Given the description of an element on the screen output the (x, y) to click on. 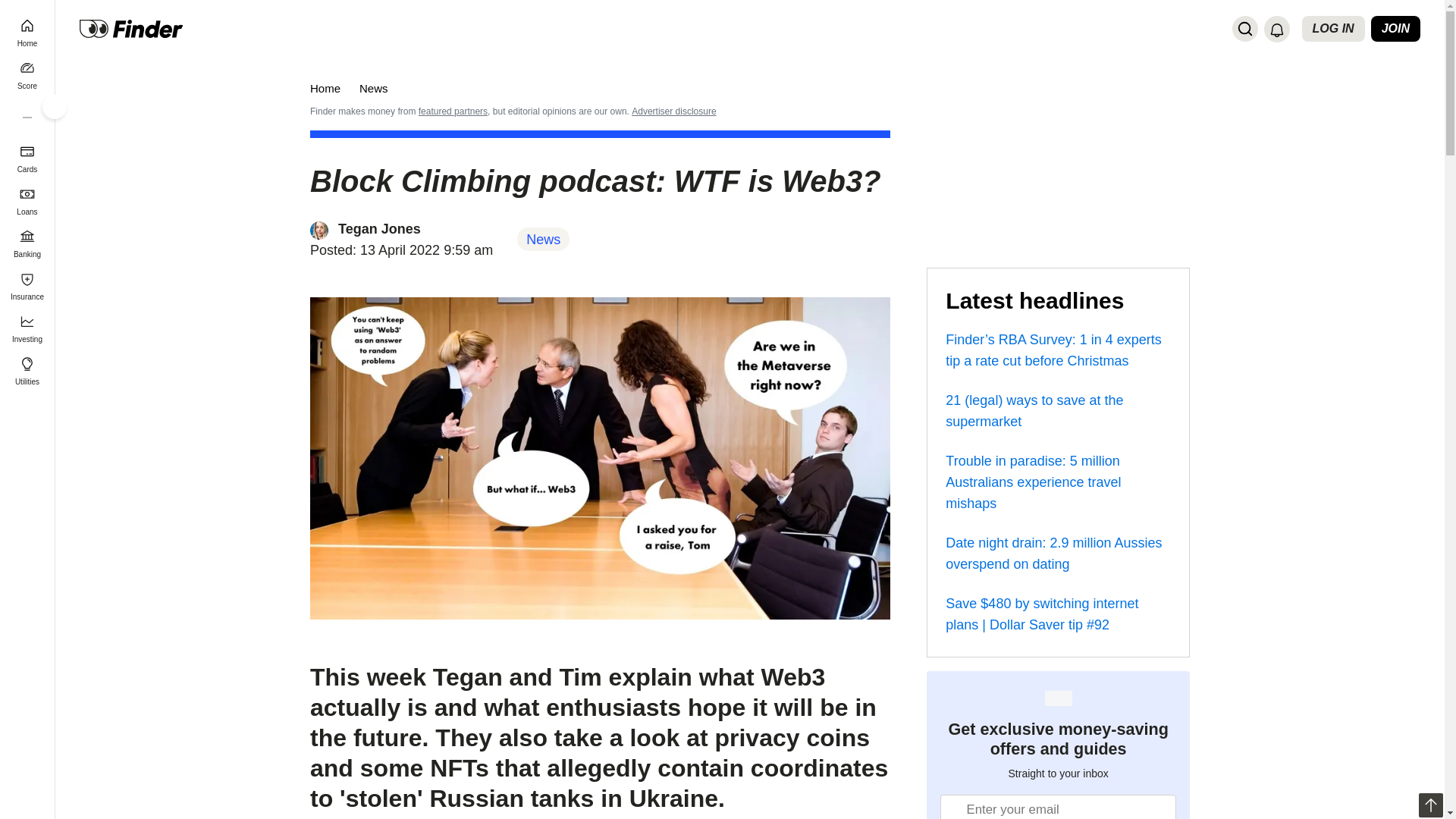
Important information about this website (673, 110)
Back to Top (1430, 805)
